Given the description of an element on the screen output the (x, y) to click on. 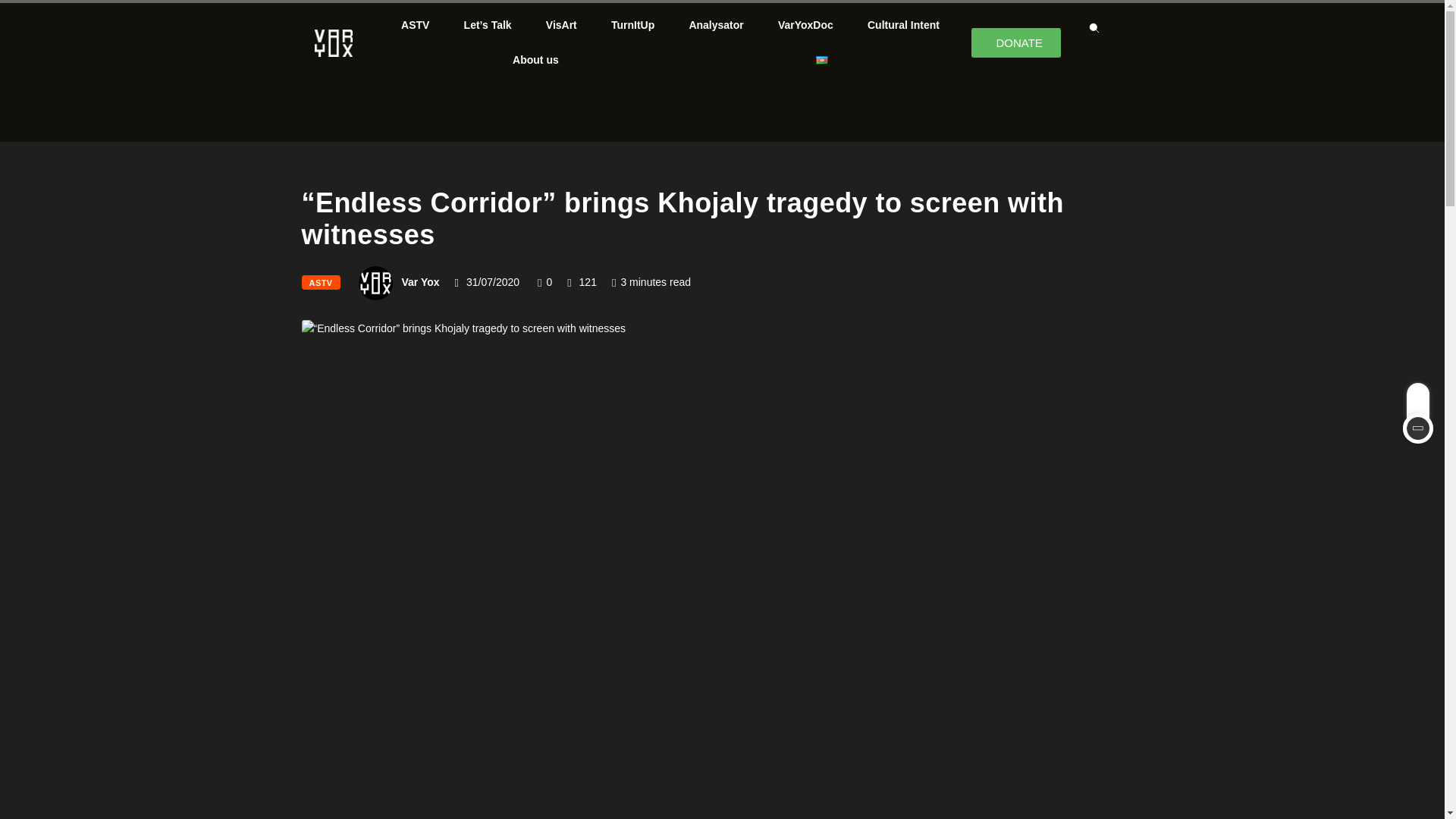
TurnItUp (632, 24)
VarYoxDoc (805, 24)
Cultural Intent (903, 24)
ASTV (415, 24)
About us (535, 59)
VisArt (561, 24)
DONATE (1015, 41)
Analysator (716, 24)
